Given the description of an element on the screen output the (x, y) to click on. 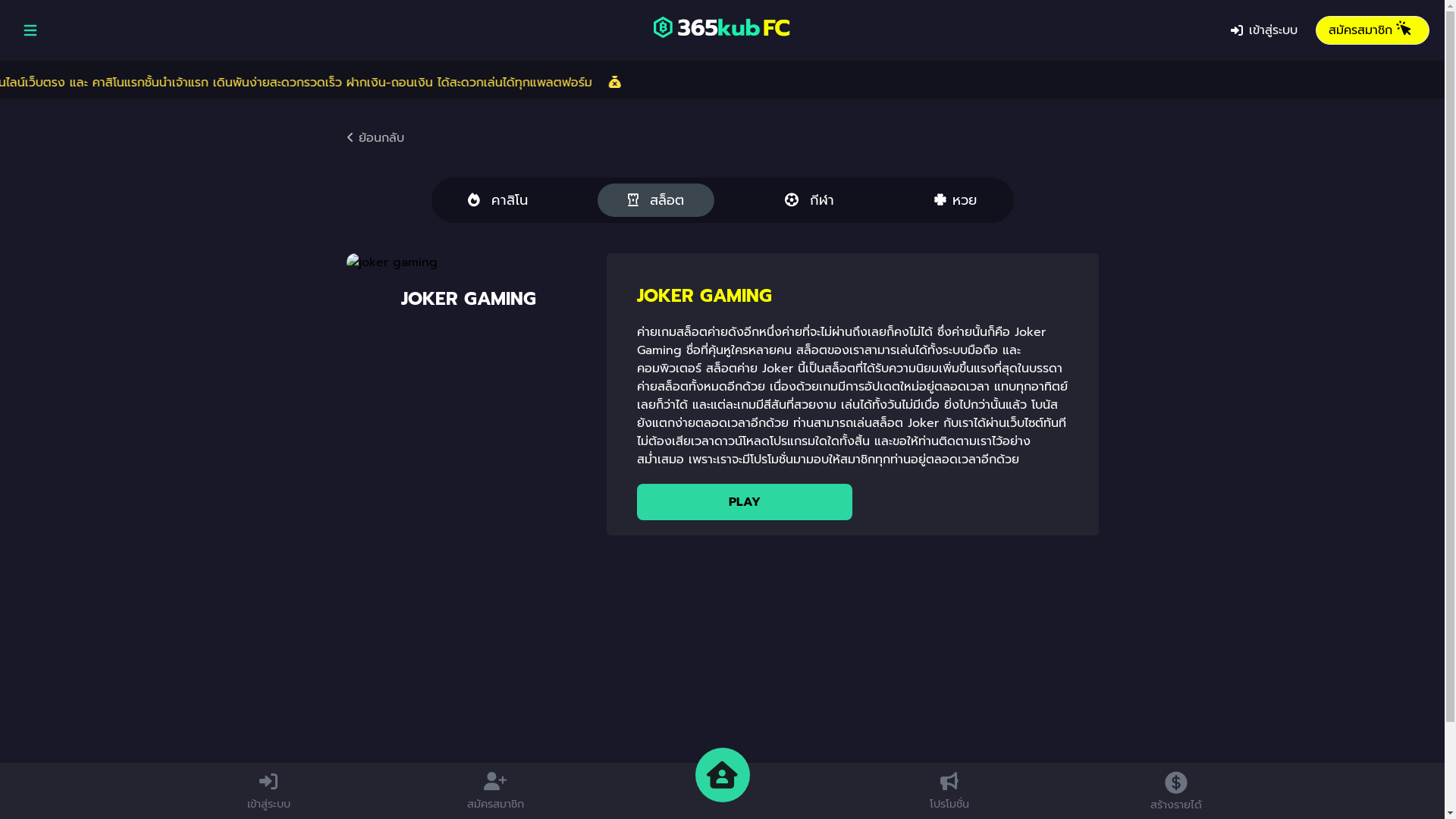
PLAY Element type: text (744, 501)
Open main menu Element type: text (30, 30)
